Given the description of an element on the screen output the (x, y) to click on. 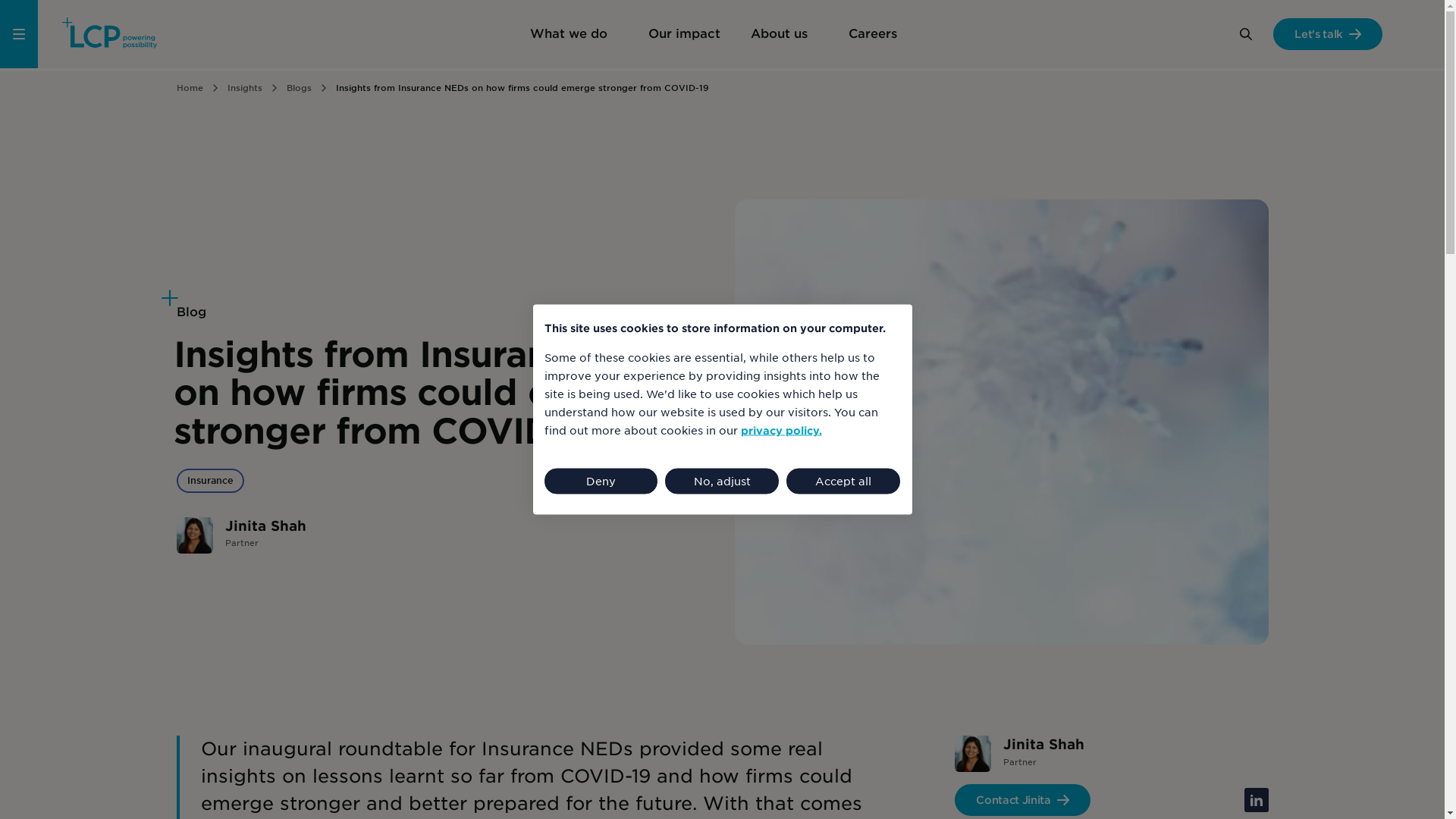
Our impact (683, 33)
Search (1245, 33)
What we do (573, 33)
linkedin (1255, 799)
Menu (18, 33)
About us (784, 33)
Careers (877, 33)
